Given the description of an element on the screen output the (x, y) to click on. 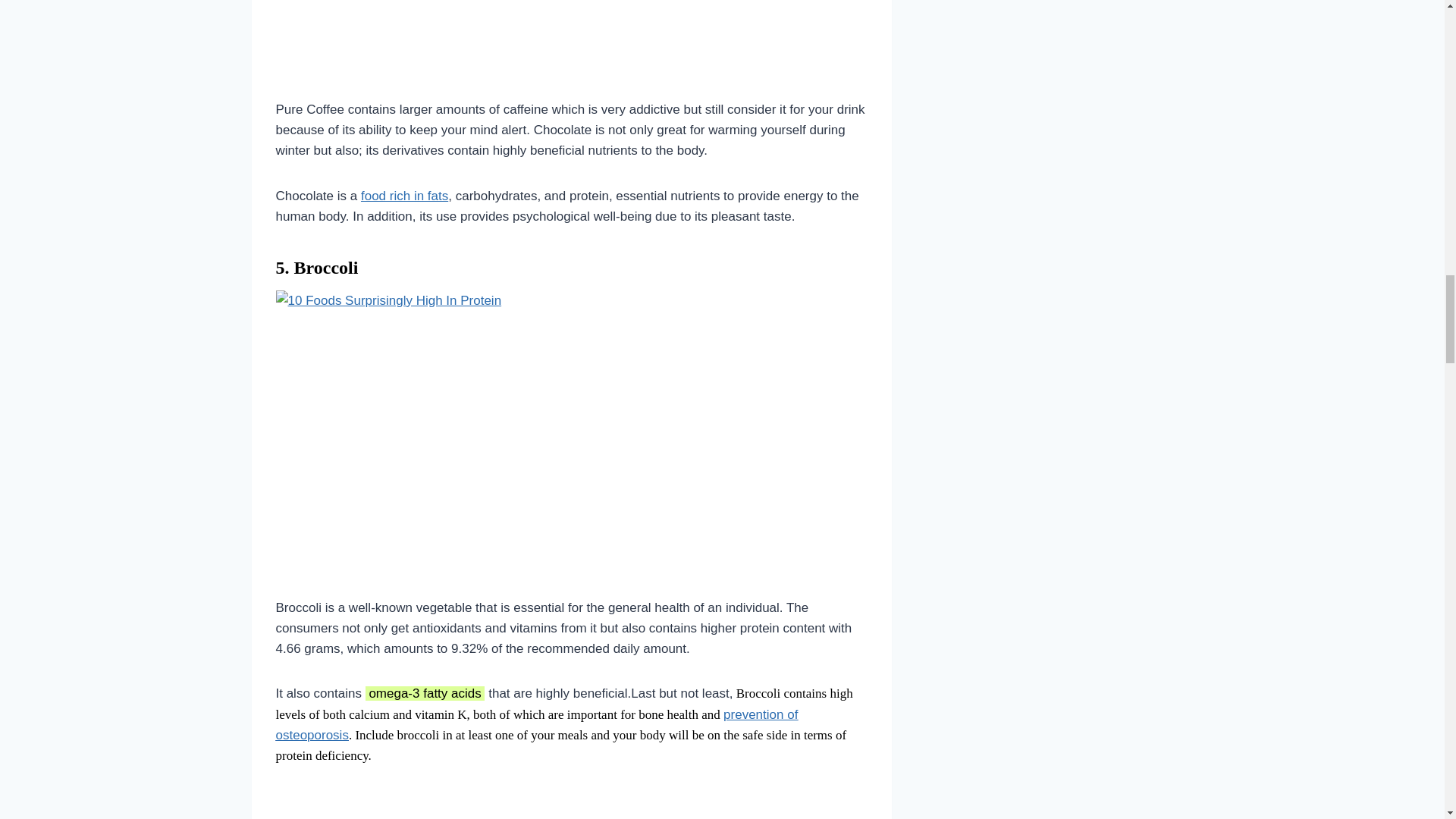
prevention of osteoporosis (536, 724)
food rich in fats (404, 196)
10 Foods Surprisingly High In Protein 4 (460, 37)
10 Foods Surprisingly High In Protein 5 (464, 431)
